Given the description of an element on the screen output the (x, y) to click on. 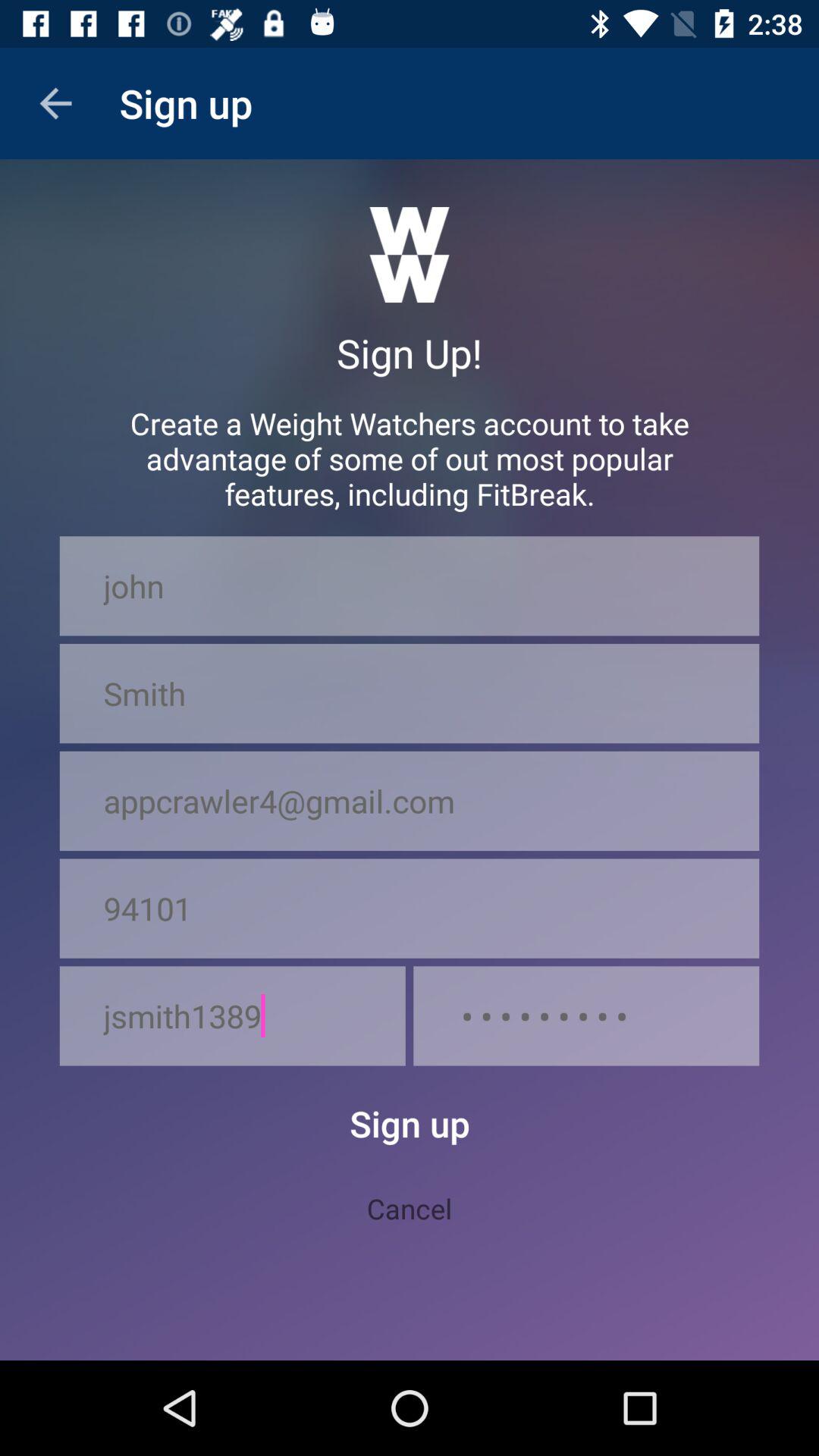
jump to the 94101 (409, 908)
